Given the description of an element on the screen output the (x, y) to click on. 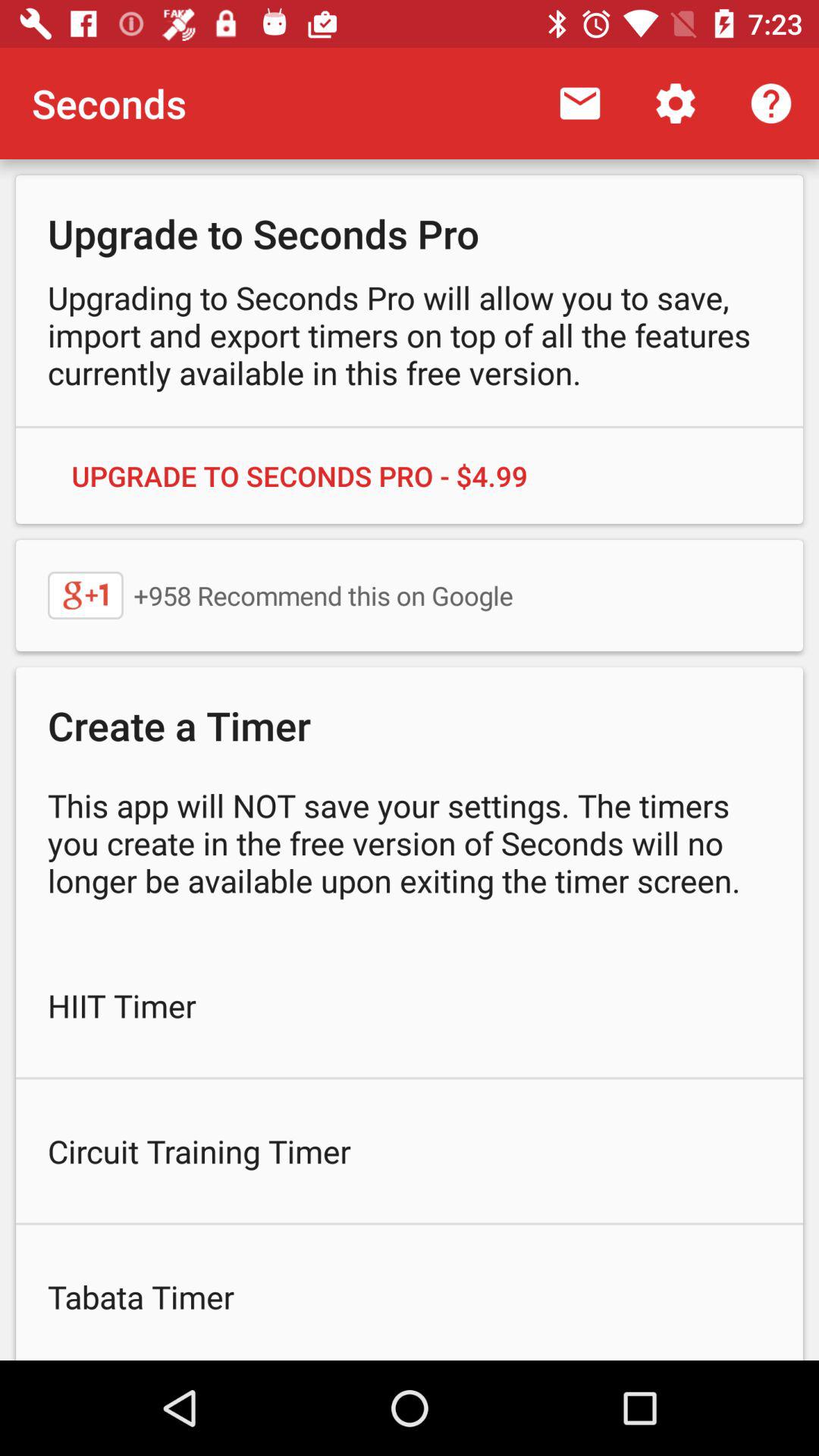
swipe to tabata timer item (409, 1292)
